Given the description of an element on the screen output the (x, y) to click on. 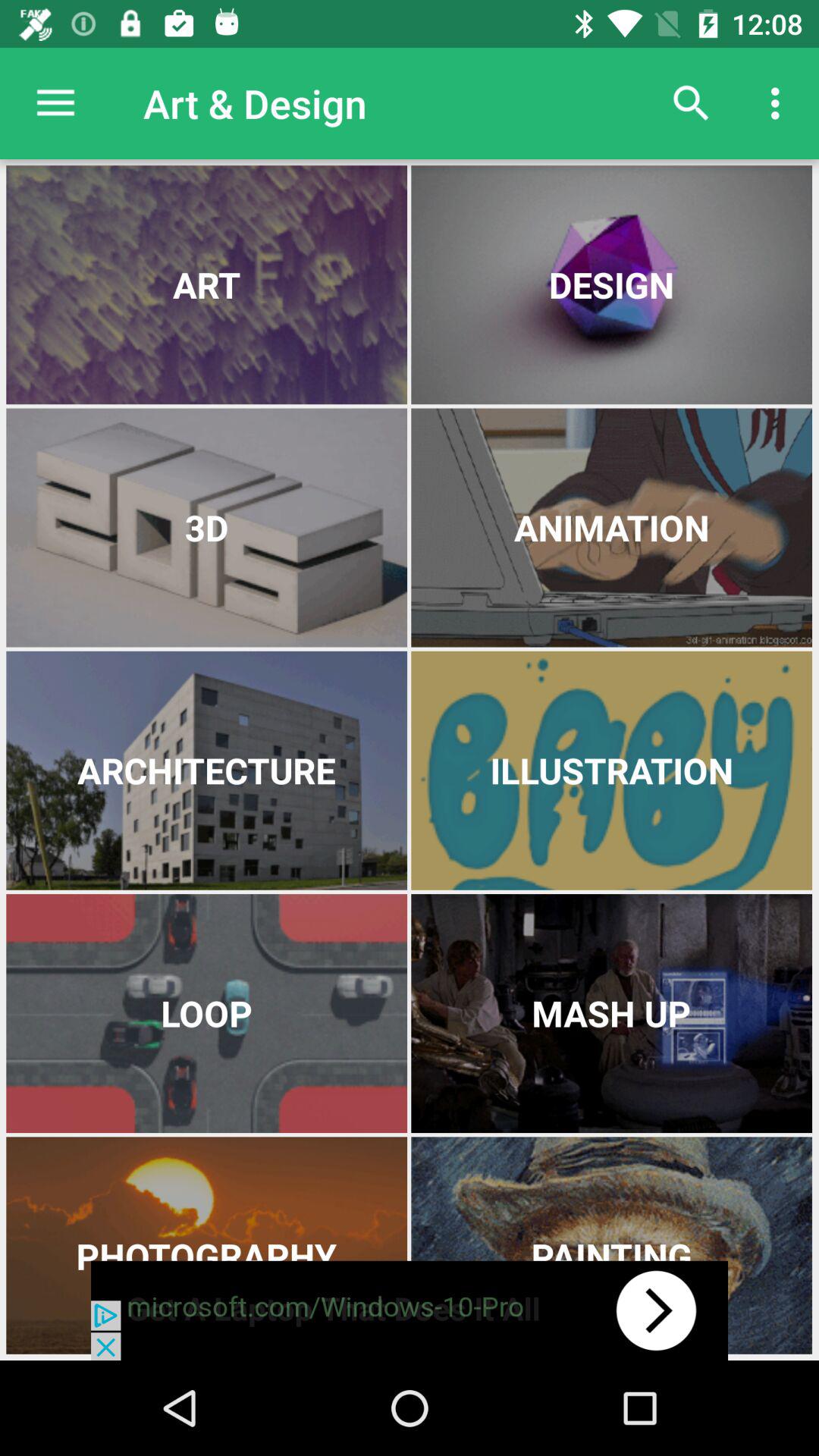
advertisement bar (409, 1310)
